Given the description of an element on the screen output the (x, y) to click on. 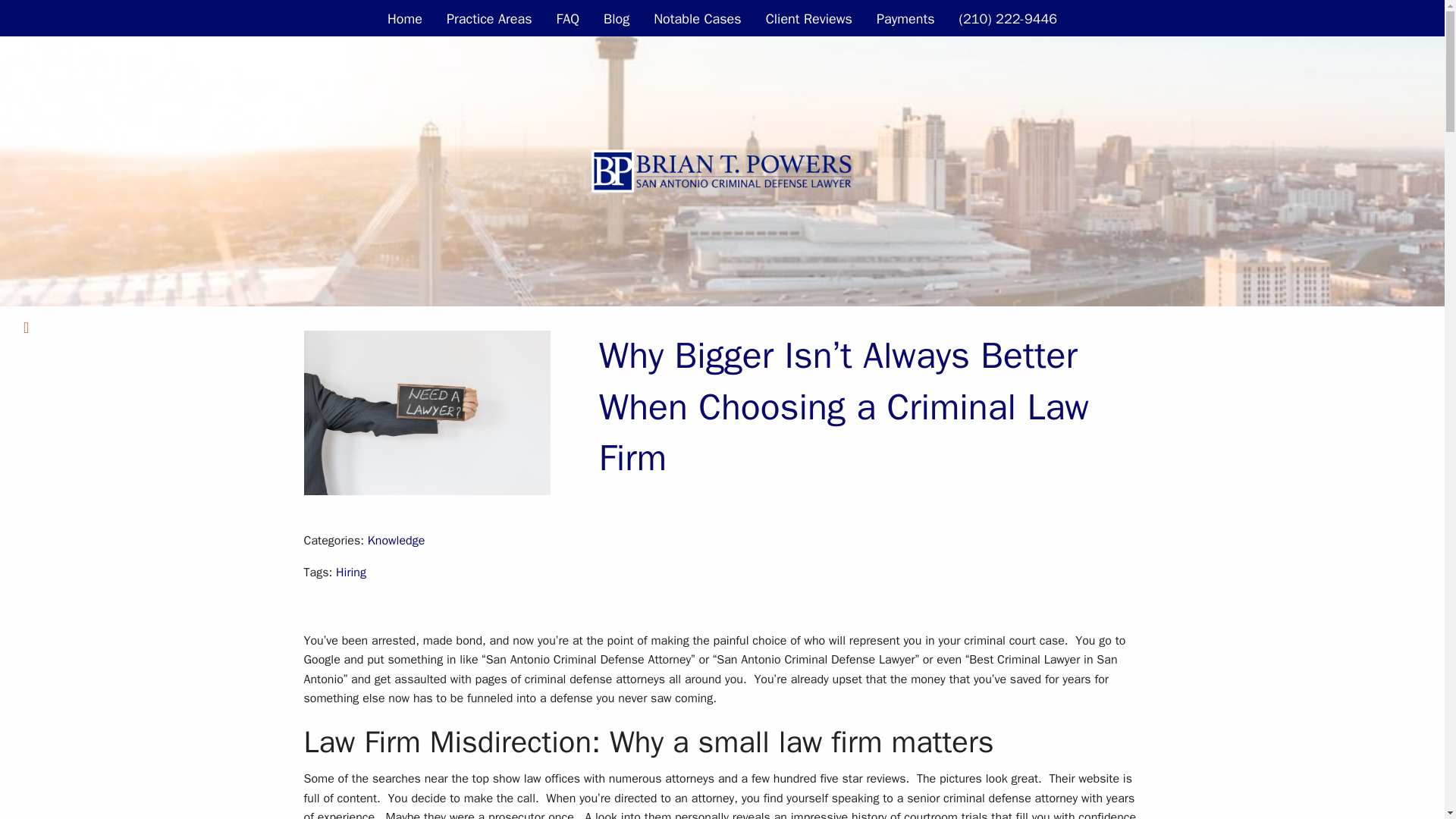
Knowledge (396, 540)
Client Reviews (809, 18)
Home (404, 18)
Home (404, 18)
Notable Cases (697, 18)
FAQ (568, 18)
Practice Areas (488, 18)
Payments (905, 18)
Blog (616, 18)
Hiring (351, 572)
